Given the description of an element on the screen output the (x, y) to click on. 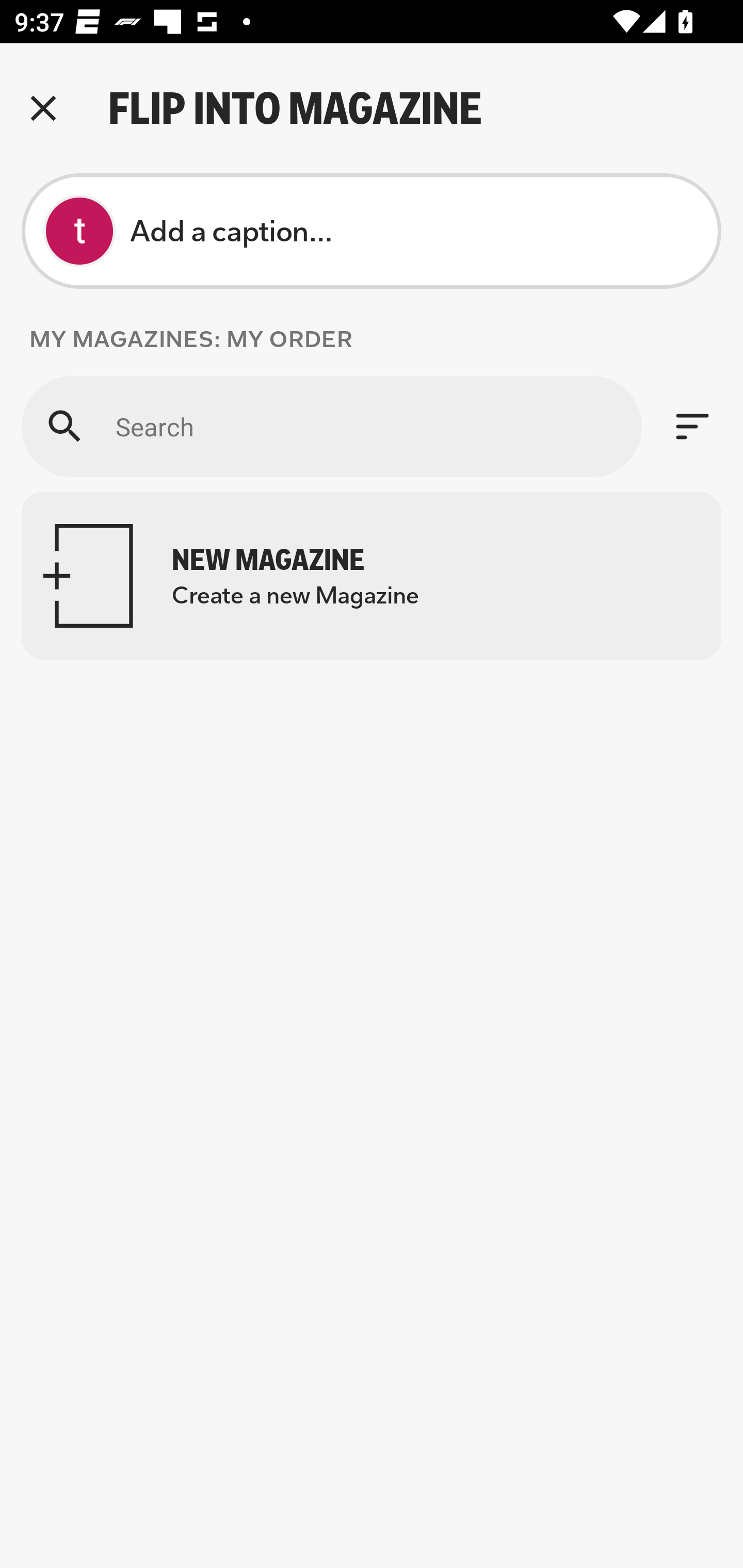
test appium Add a caption… (371, 231)
Search (331, 426)
NEW MAGAZINE Create a new Magazine (371, 575)
